Given the description of an element on the screen output the (x, y) to click on. 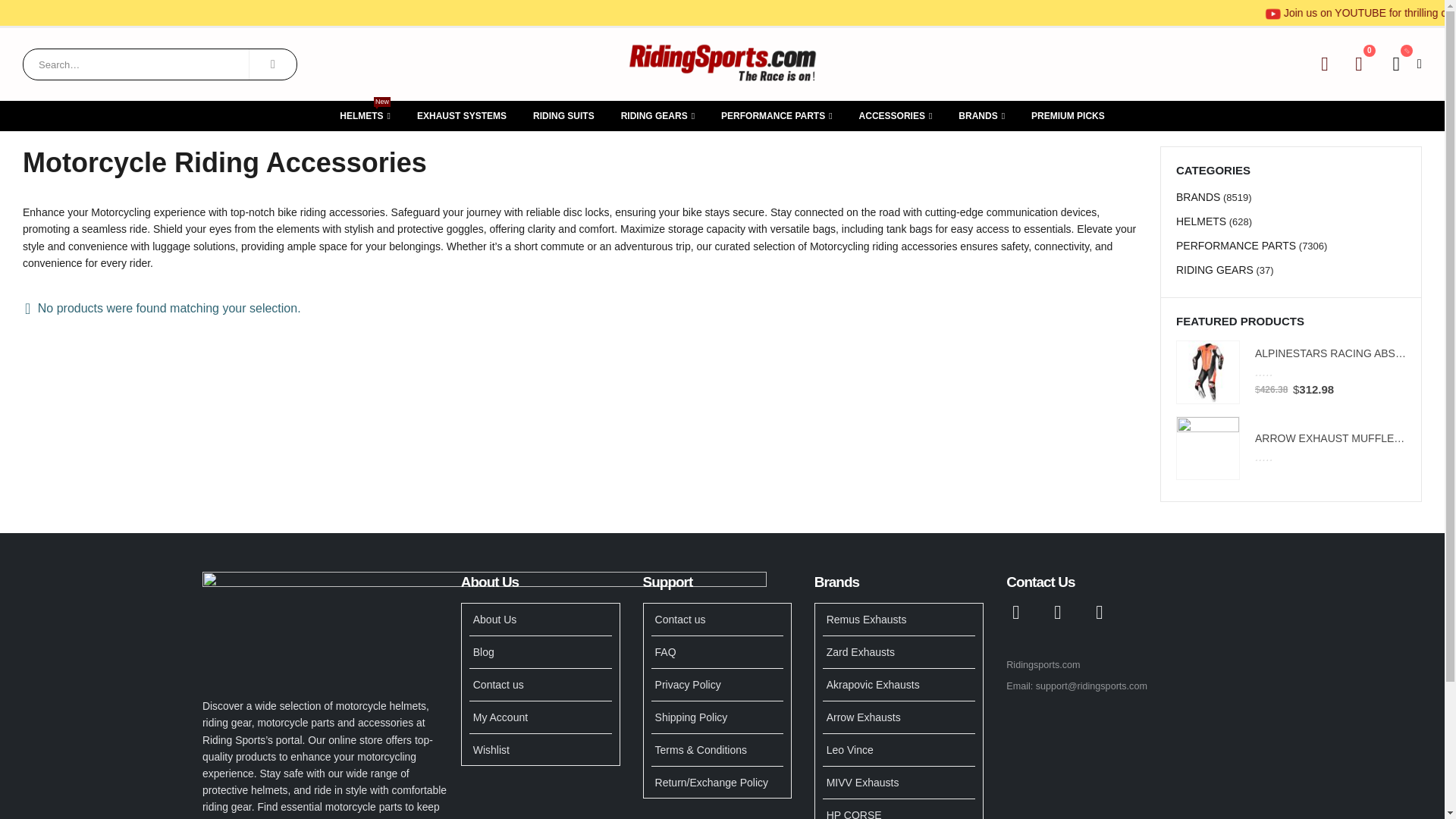
ridingsports - The Race Is ON!!! (721, 64)
0 (1279, 371)
EXHAUST SYSTEMS (365, 115)
Search (461, 115)
RIDING GEARS (272, 64)
PERFORMANCE PARTS (657, 115)
RIDING SUITS (777, 115)
